Given the description of an element on the screen output the (x, y) to click on. 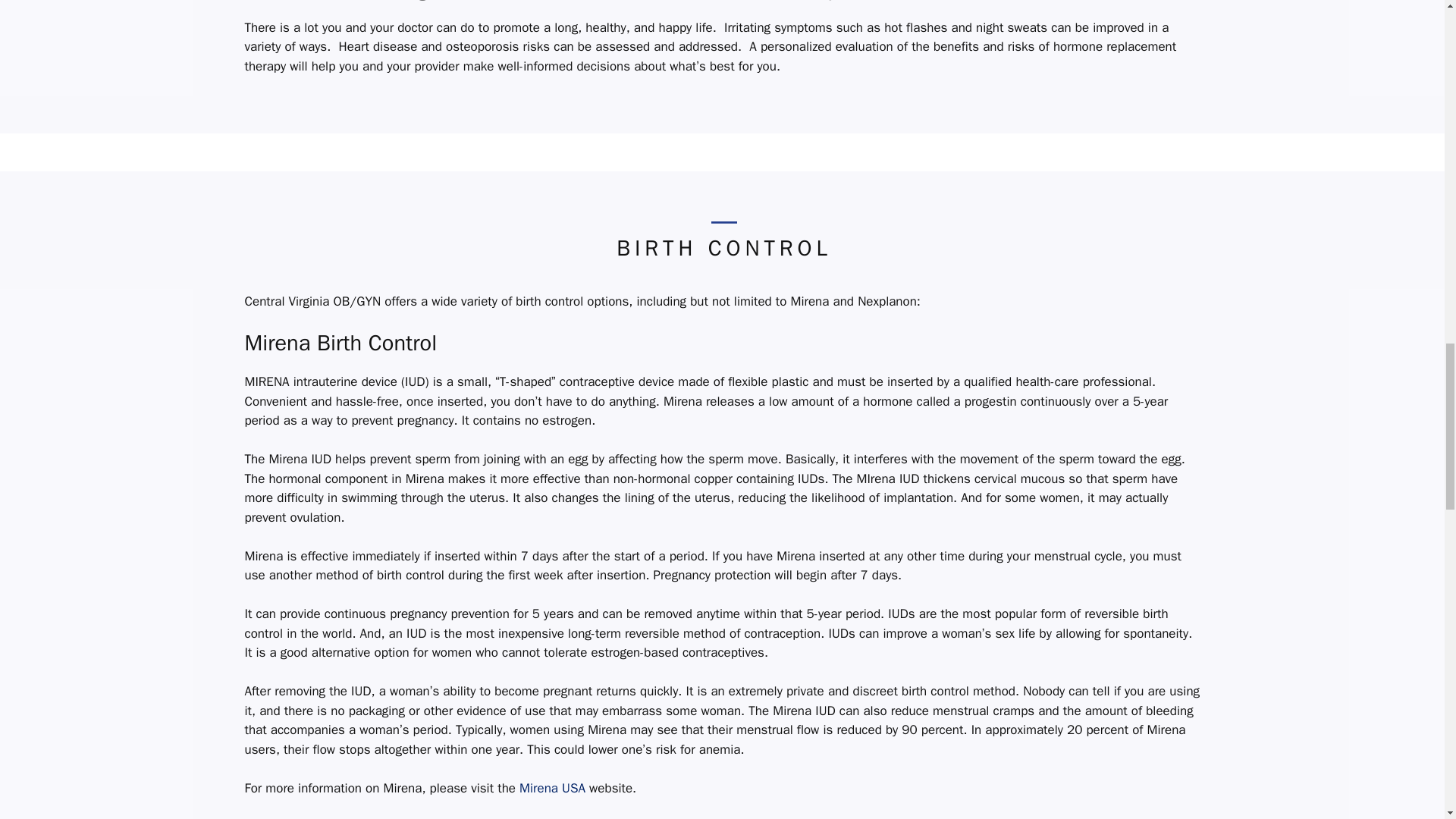
Mirena USA  (554, 788)
